Given the description of an element on the screen output the (x, y) to click on. 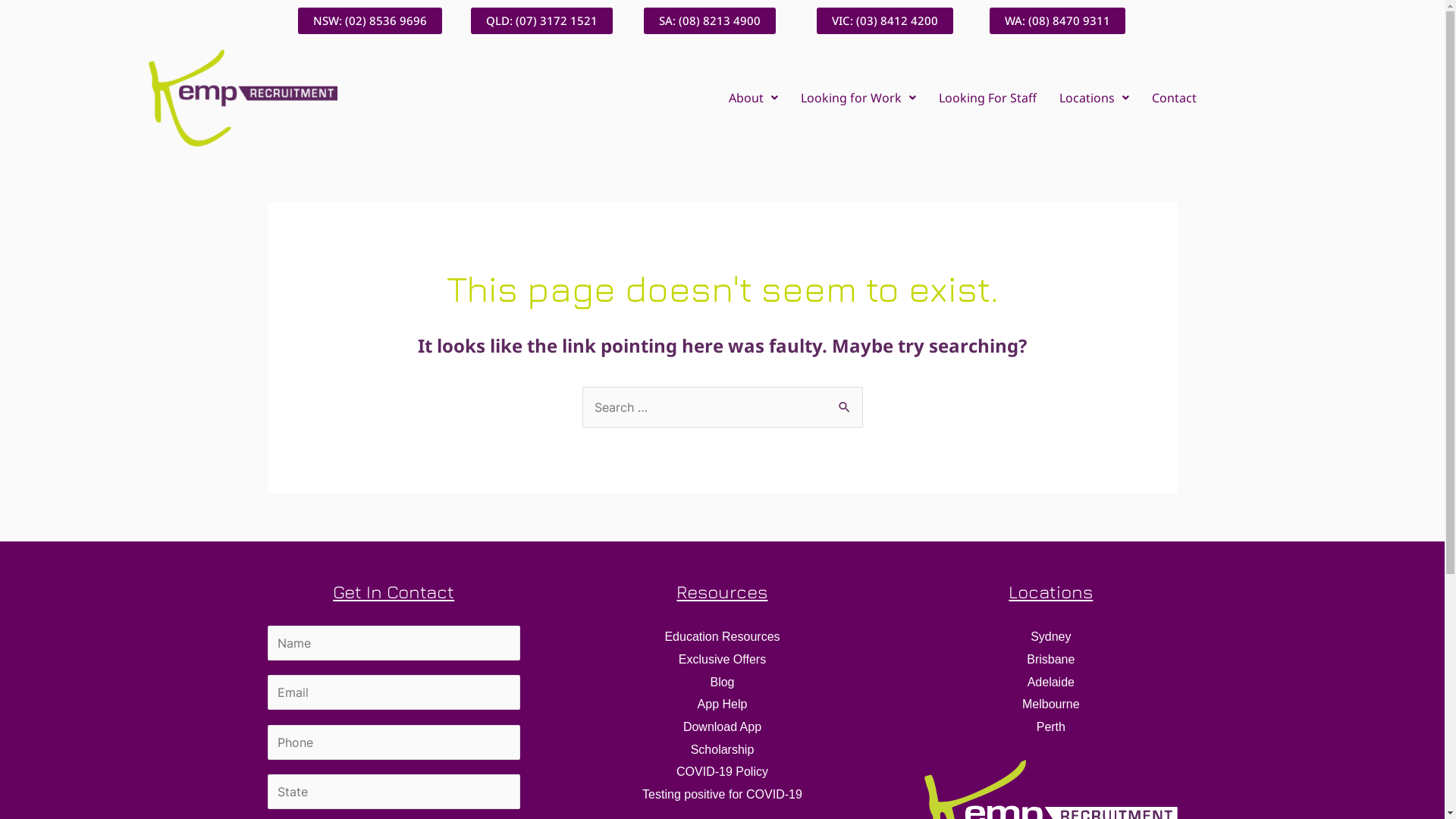
Melbourne Element type: text (1050, 703)
VIC: (03) 8412 4200 Element type: text (883, 20)
Download App Element type: text (722, 726)
Contact Element type: text (1174, 97)
NSW: (02) 8536 9696 Element type: text (369, 20)
Sydney Element type: text (1050, 636)
Education Resources Element type: text (721, 636)
Testing positive for COVID-19 Element type: text (722, 793)
Blog Element type: text (721, 681)
Adelaide Element type: text (1050, 681)
COVID-19 Policy Element type: text (722, 771)
Exclusive Offers Element type: text (721, 658)
Search Element type: text (845, 401)
WA: (08) 8470 9311 Element type: text (1056, 20)
Looking for Work Element type: text (858, 97)
Perth Element type: text (1050, 726)
SA: (08) 8213 4900 Element type: text (709, 20)
Scholarship Element type: text (722, 749)
Looking For Staff Element type: text (987, 97)
Brisbane Element type: text (1050, 658)
QLD: (07) 3172 1521 Element type: text (540, 20)
App Help Element type: text (722, 703)
About Element type: text (753, 97)
Locations Element type: text (1094, 97)
